Given the description of an element on the screen output the (x, y) to click on. 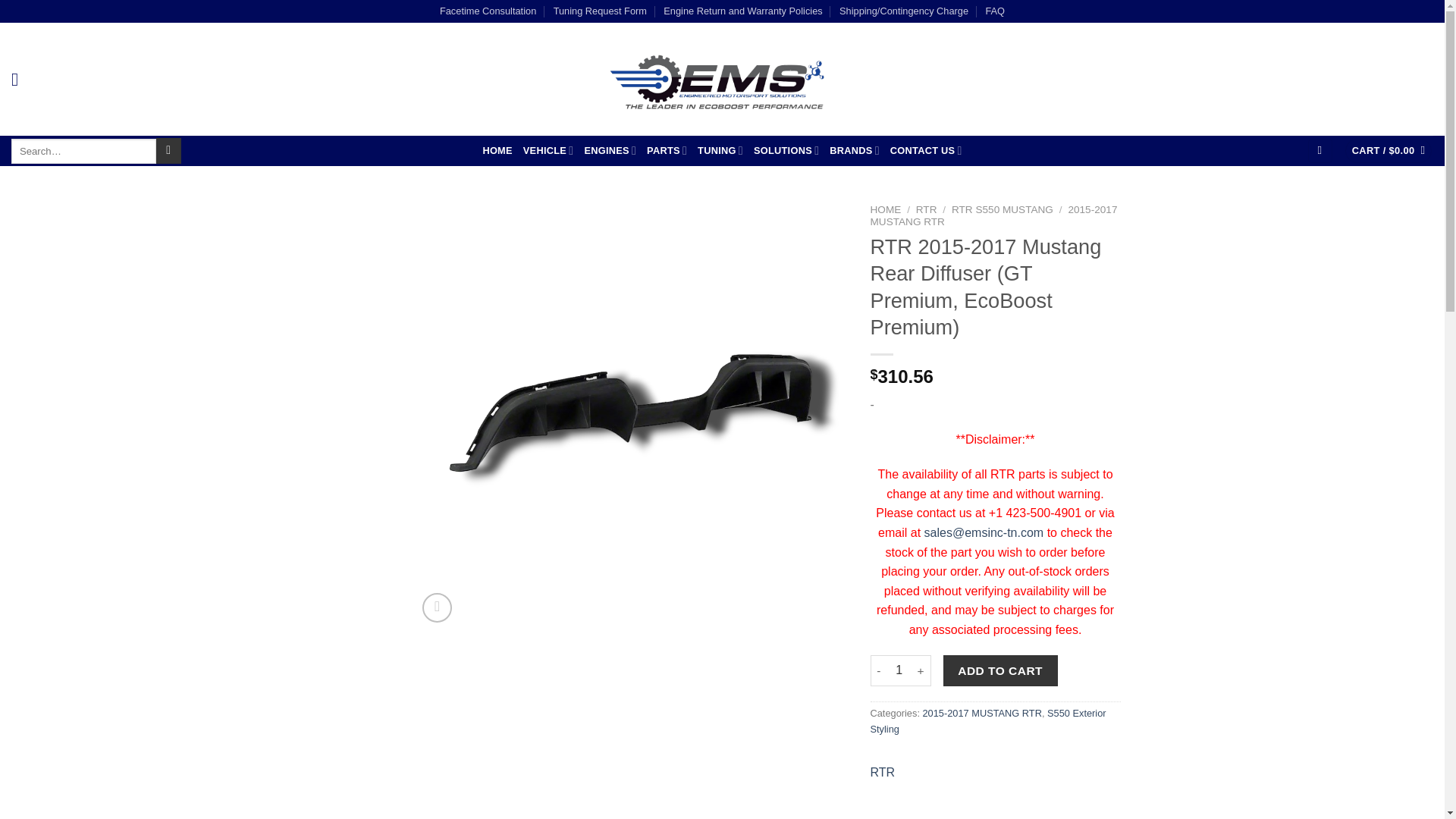
HOME (496, 150)
View brand (882, 772)
PARTS (666, 150)
Engine Return and Warranty Policies (742, 11)
VEHICLE (547, 150)
Login (1319, 150)
Tuning Request Form (599, 11)
Zoom (436, 607)
Cart (1388, 150)
